Given the description of an element on the screen output the (x, y) to click on. 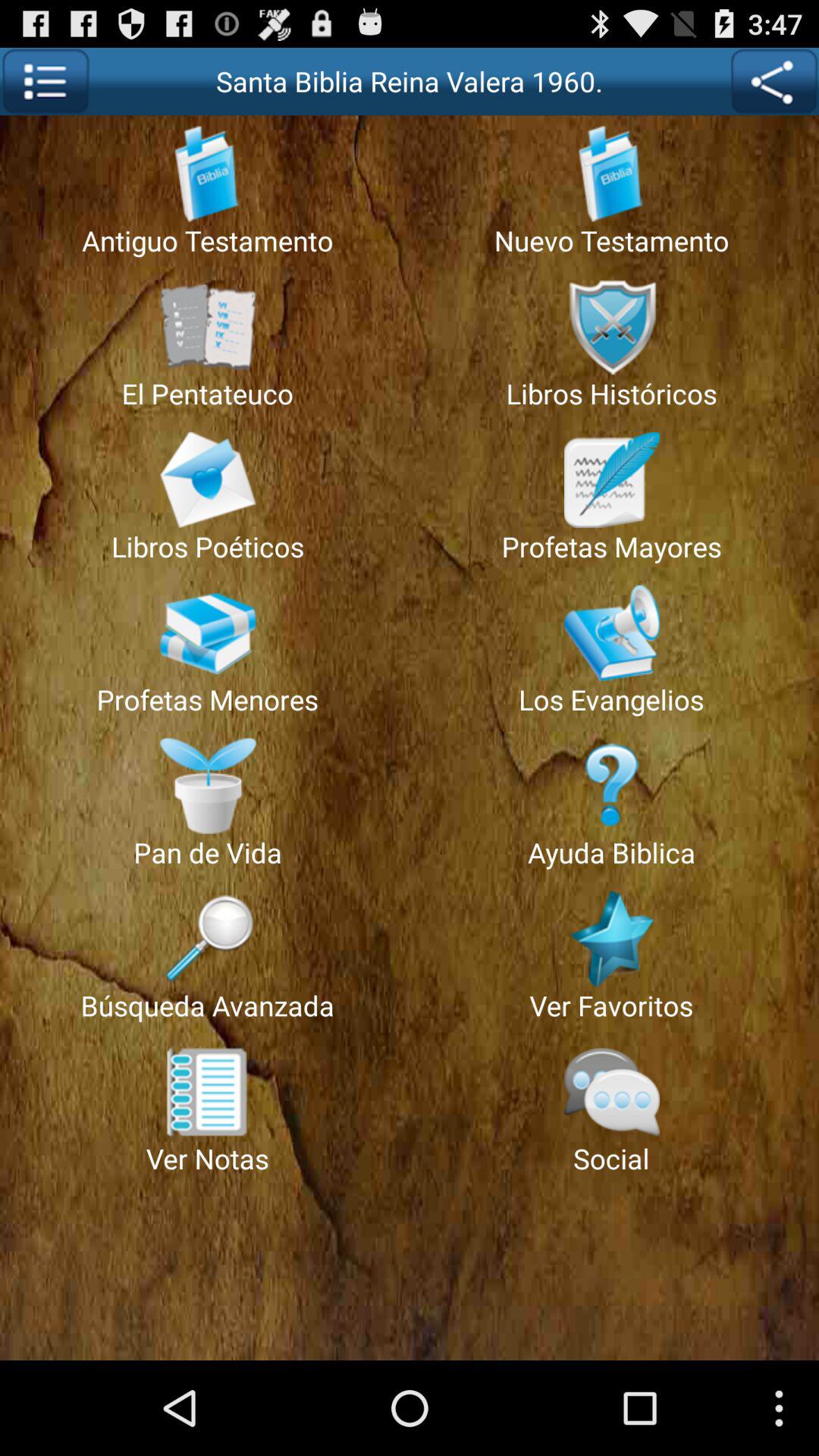
turn on the item to the right of the santa biblia reina (773, 81)
